Given the description of an element on the screen output the (x, y) to click on. 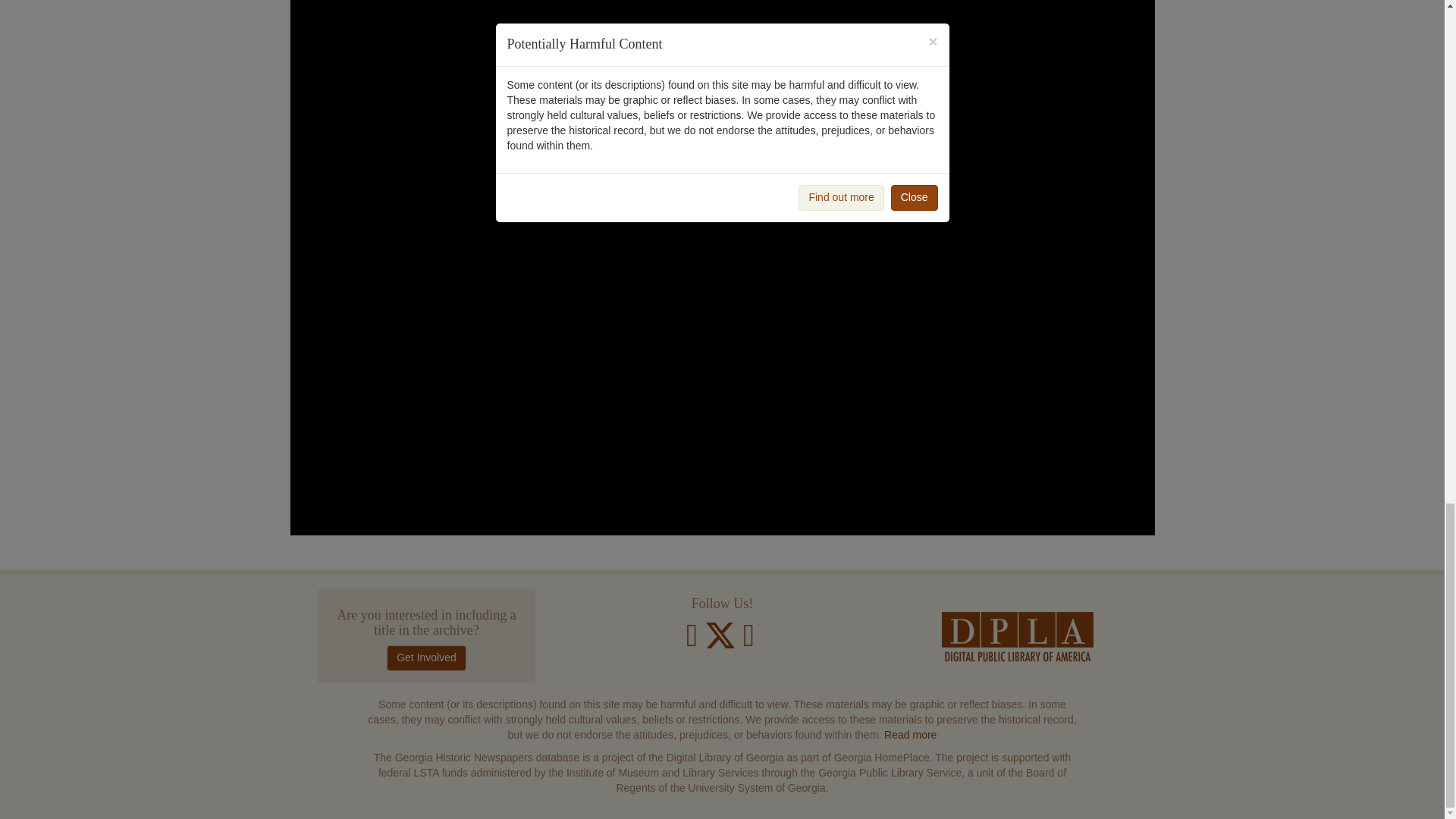
DLG Facebook Link (691, 642)
DLG Twitter Link (721, 642)
DLG Blog (748, 642)
DPLA Link (1017, 638)
